Given the description of an element on the screen output the (x, y) to click on. 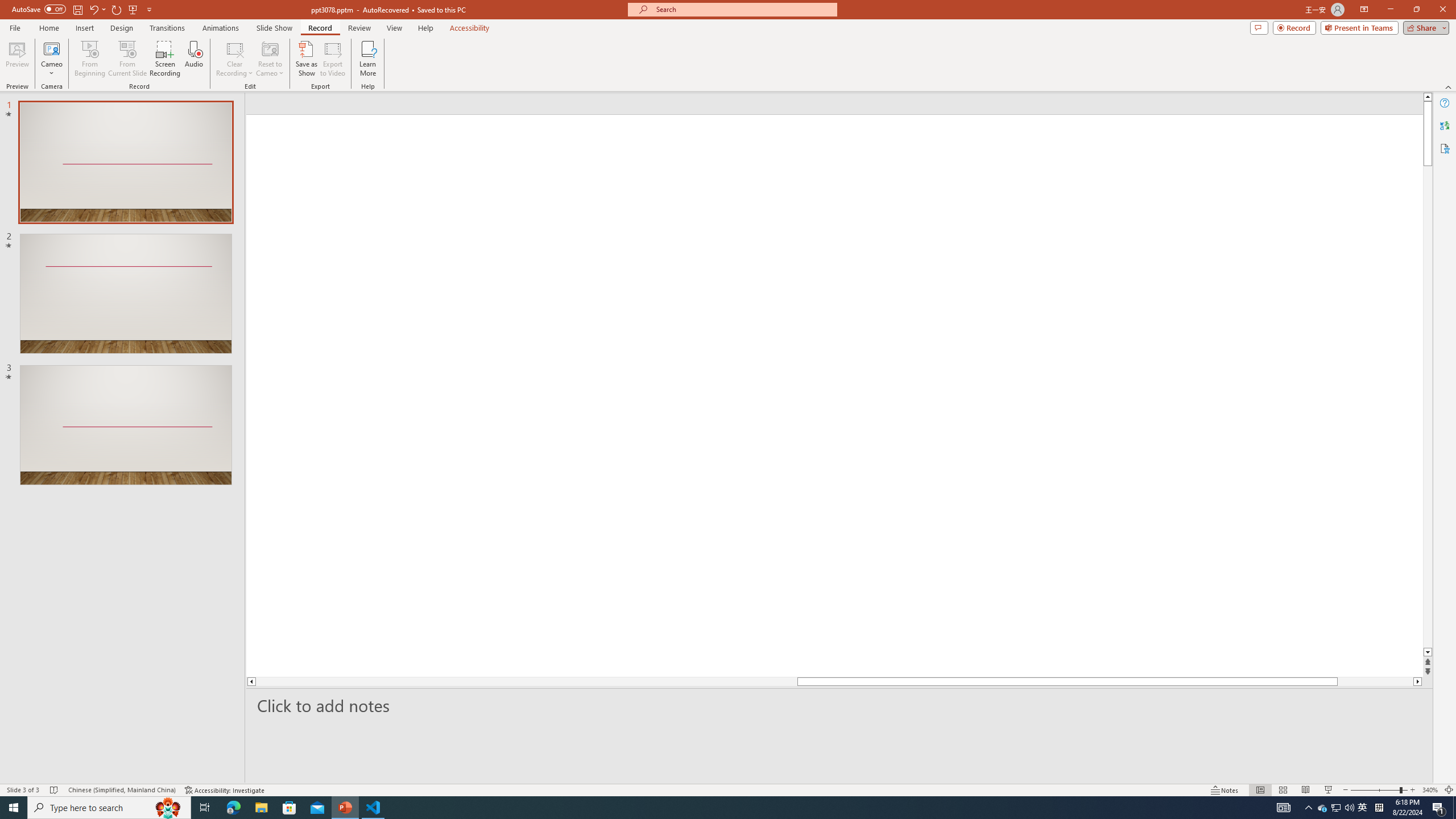
From Current Slide... (127, 58)
